Given the description of an element on the screen output the (x, y) to click on. 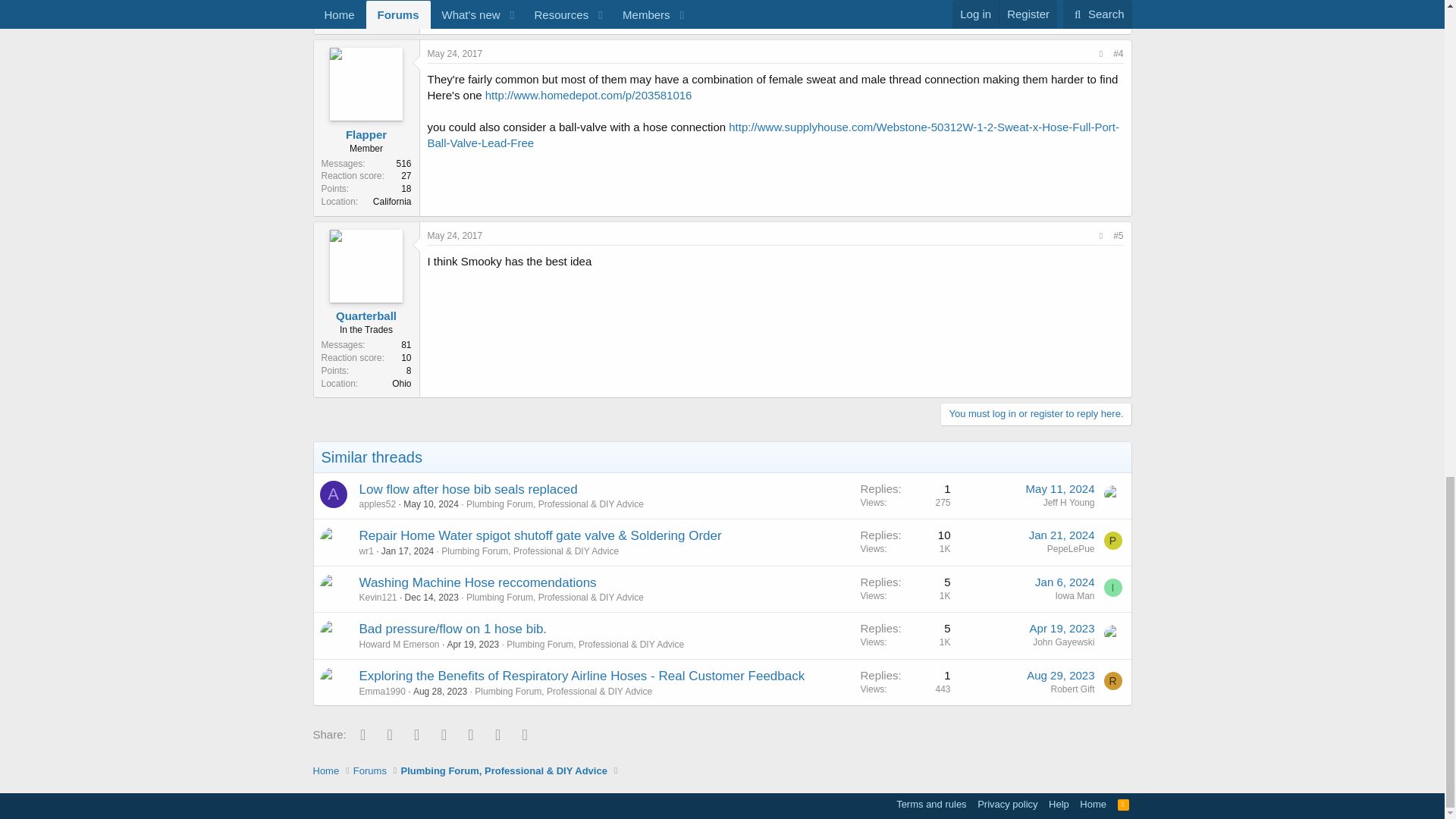
Jan 21, 2024 at 9:34 PM (1061, 534)
May 24, 2017 at 12:58 PM (455, 53)
May 24, 2017 at 3:09 PM (455, 235)
Jan 17, 2024 at 6:27 PM (407, 551)
First message reaction score: 0 (904, 542)
May 10, 2024 at 12:14 PM (430, 503)
May 11, 2024 at 6:22 PM (1060, 487)
Dec 14, 2023 at 7:40 AM (431, 597)
First message reaction score: 0 (904, 495)
